Given the description of an element on the screen output the (x, y) to click on. 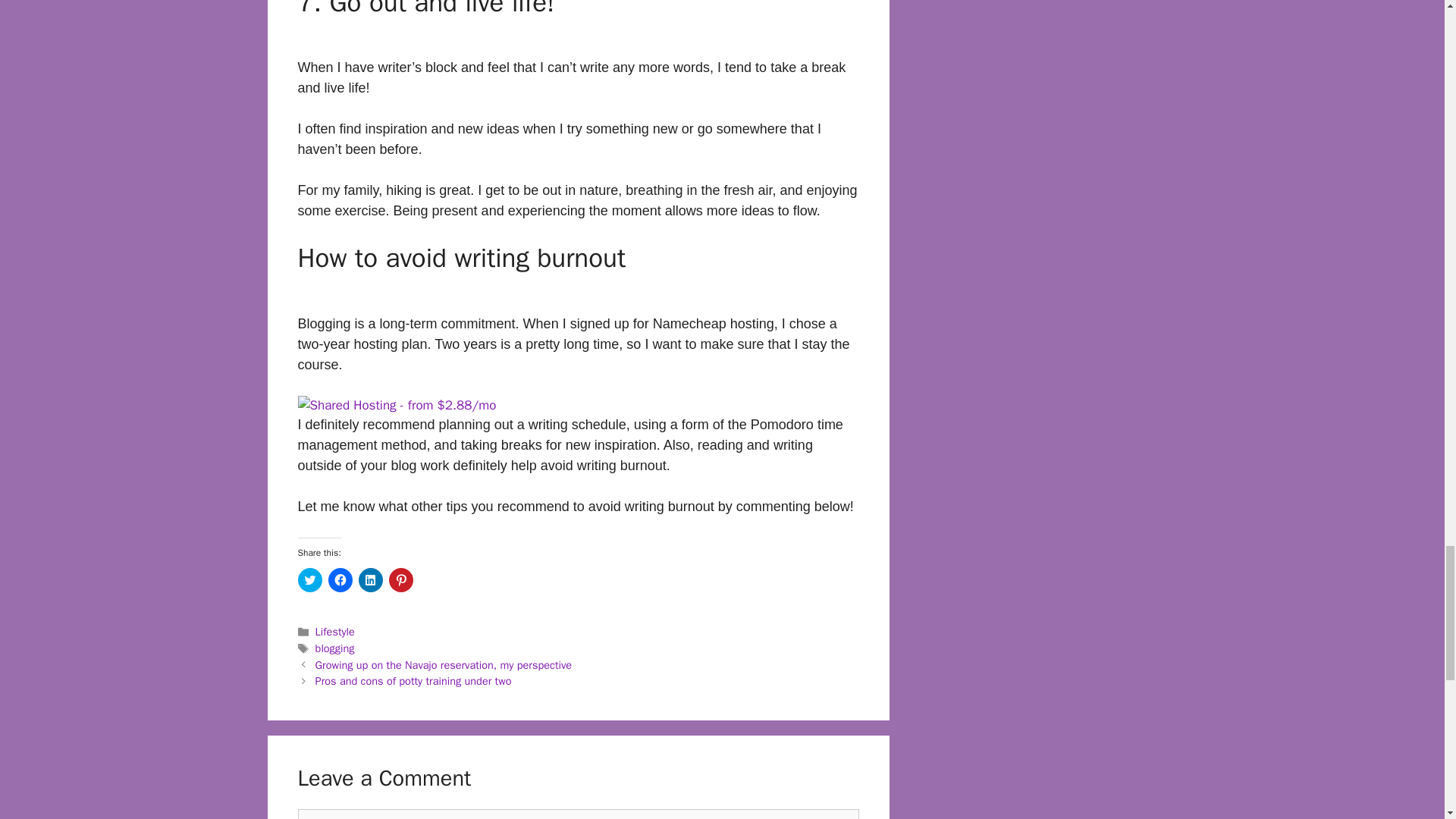
Growing up on the Navajo reservation, my perspective (443, 664)
Next (413, 680)
blogging (335, 648)
Click to share on Pinterest (400, 580)
Lifestyle (335, 631)
Previous (443, 664)
Pros and cons of potty training under two (413, 680)
Click to share on Facebook (339, 580)
Click to share on Twitter (309, 580)
Click to share on LinkedIn (369, 580)
